Given the description of an element on the screen output the (x, y) to click on. 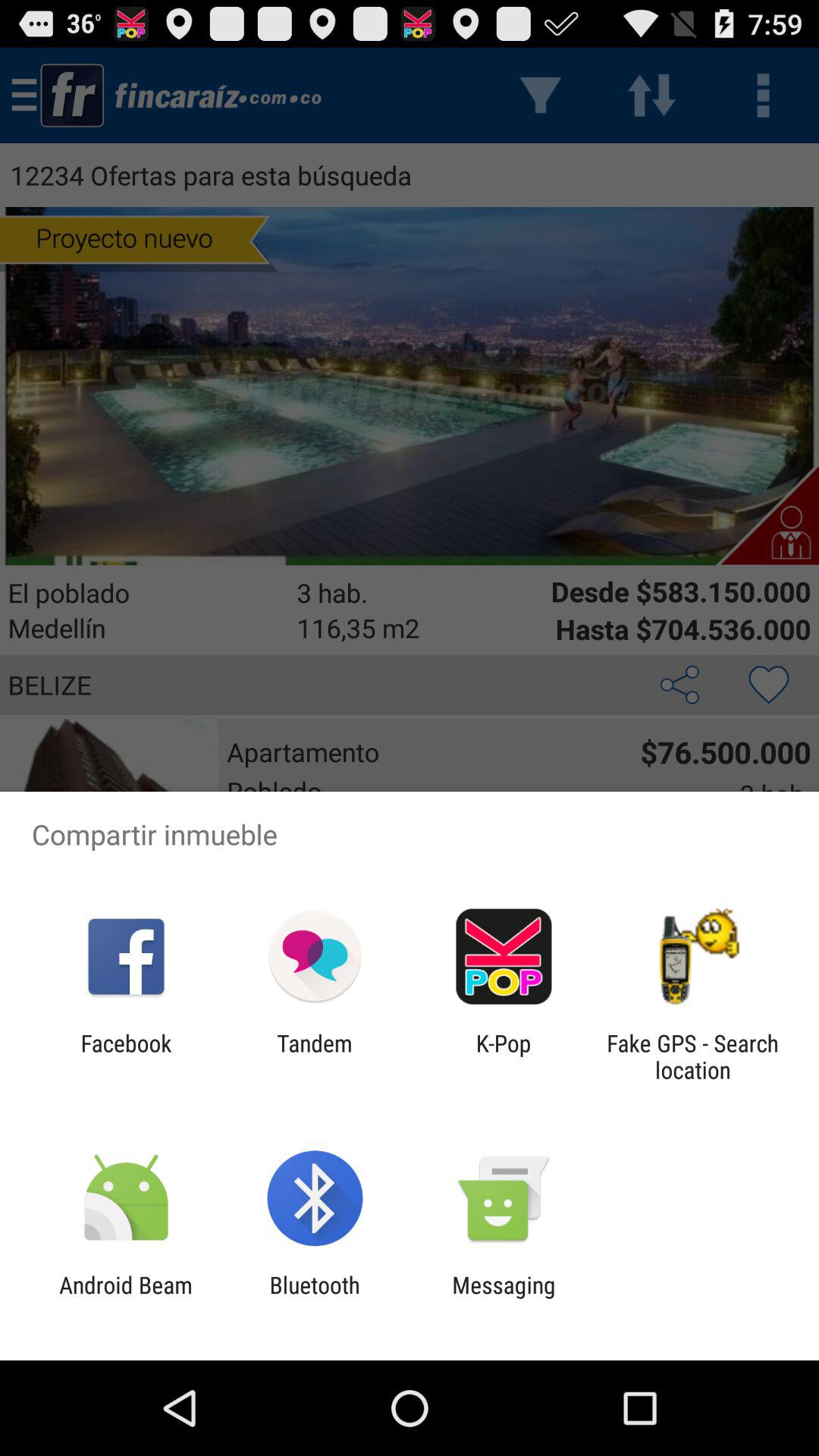
turn on icon to the left of the fake gps search item (503, 1056)
